Given the description of an element on the screen output the (x, y) to click on. 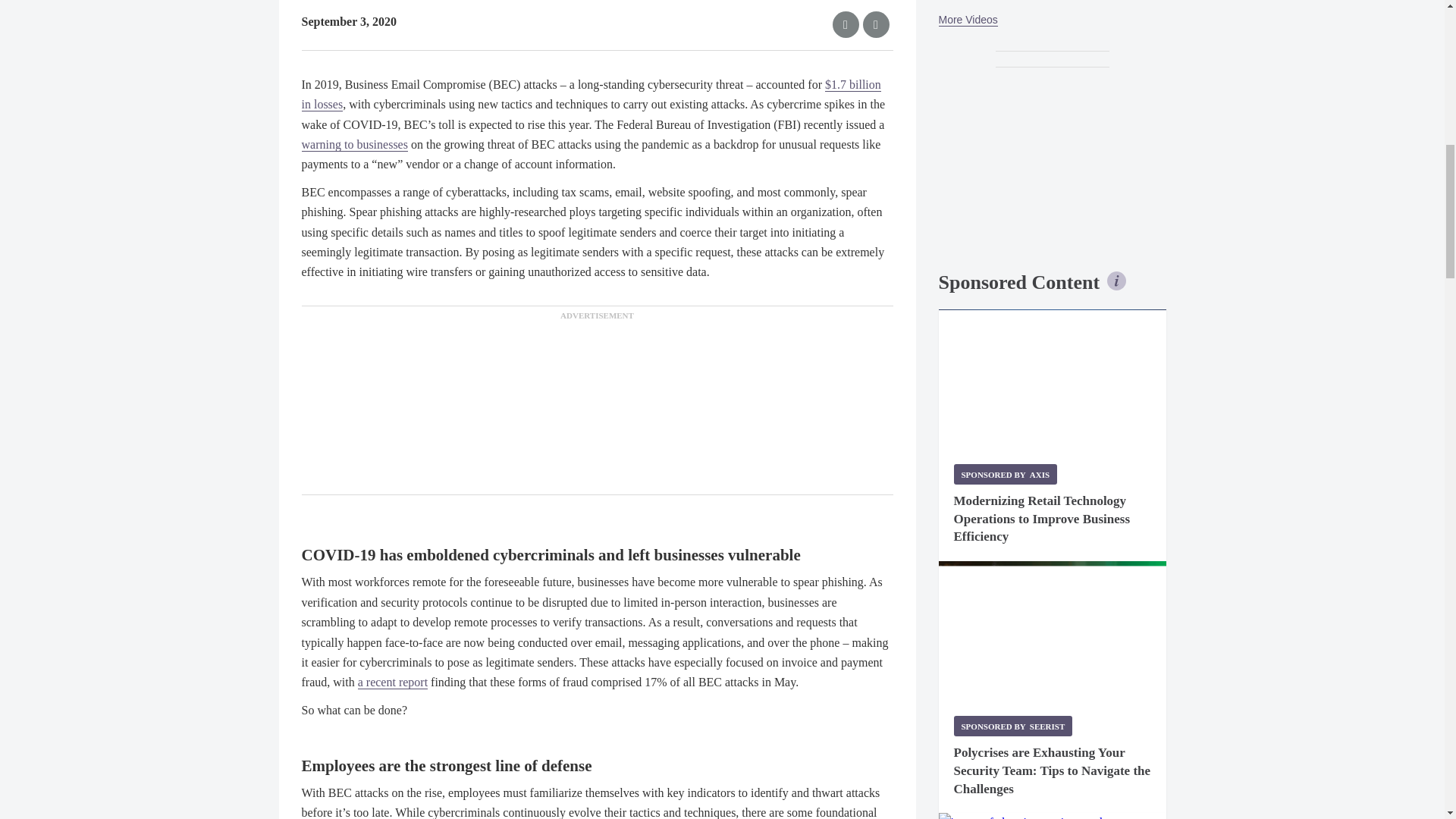
Sponsored by Seerist (1013, 725)
Lowes (1052, 378)
Threat management (1052, 631)
Sponsored by Axis (1005, 474)
AMAROK Security Gate (1052, 816)
